Given the description of an element on the screen output the (x, y) to click on. 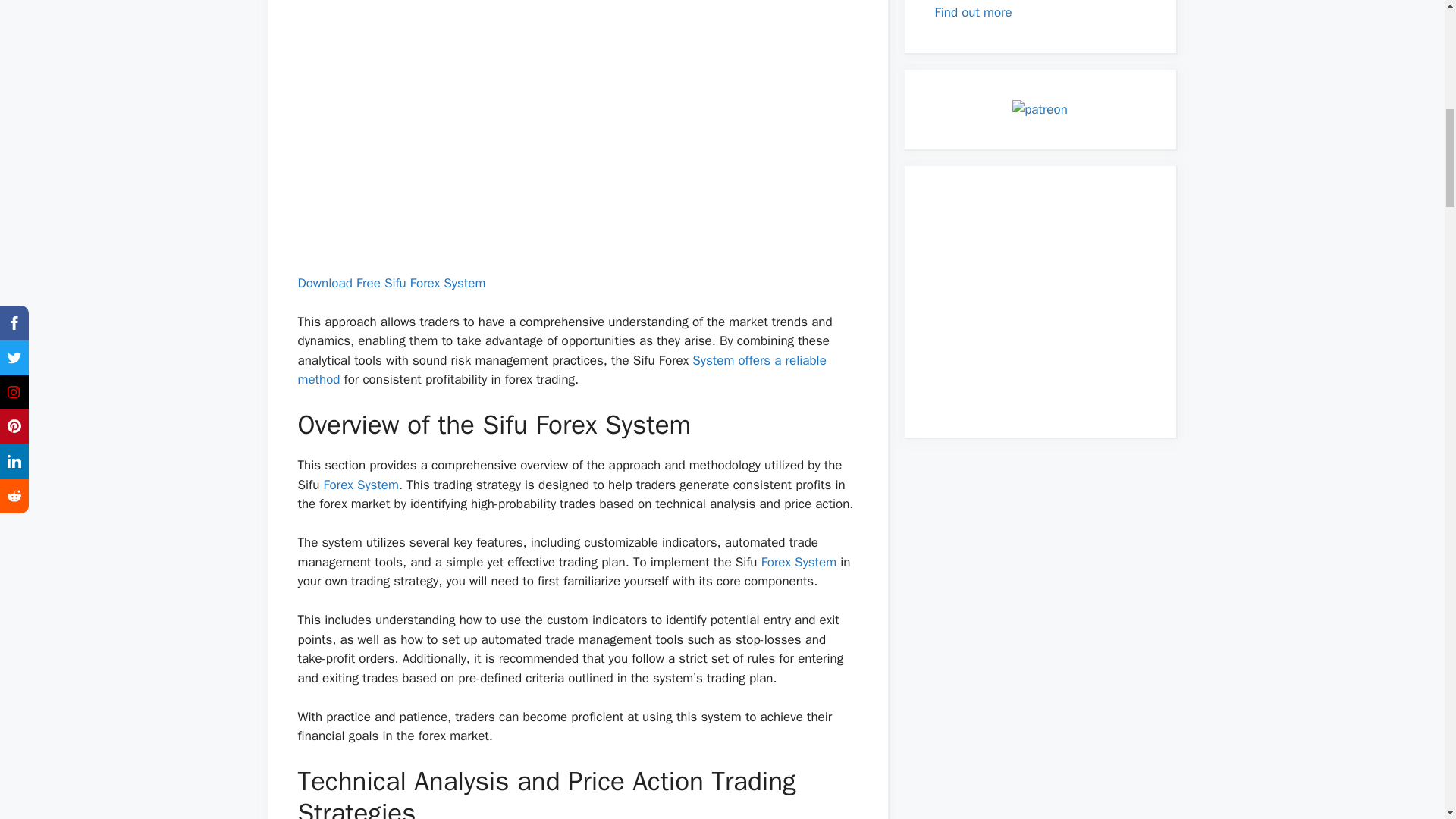
Download Free Sifu Forex System (390, 283)
System offers a reliable method (561, 370)
Forex System (360, 484)
